Given the description of an element on the screen output the (x, y) to click on. 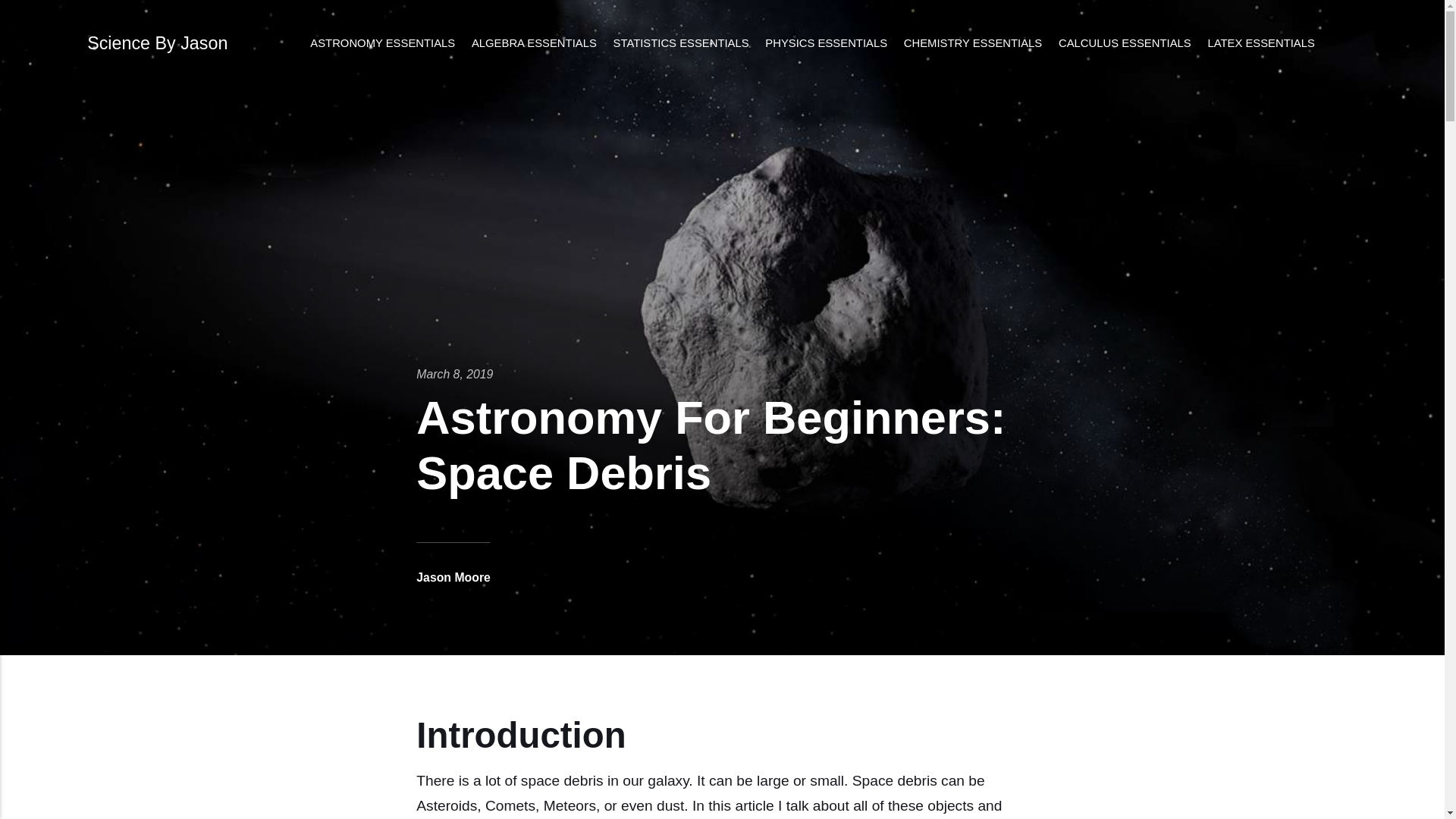
Jason Moore (453, 576)
CALCULUS ESSENTIALS (1123, 43)
LATEX ESSENTIALS (1261, 43)
PHYSICS ESSENTIALS (826, 43)
Science By Jason (157, 43)
STATISTICS ESSENTIALS (681, 43)
ASTRONOMY ESSENTIALS (382, 43)
CHEMISTRY ESSENTIALS (972, 43)
ALGEBRA ESSENTIALS (534, 43)
